Given the description of an element on the screen output the (x, y) to click on. 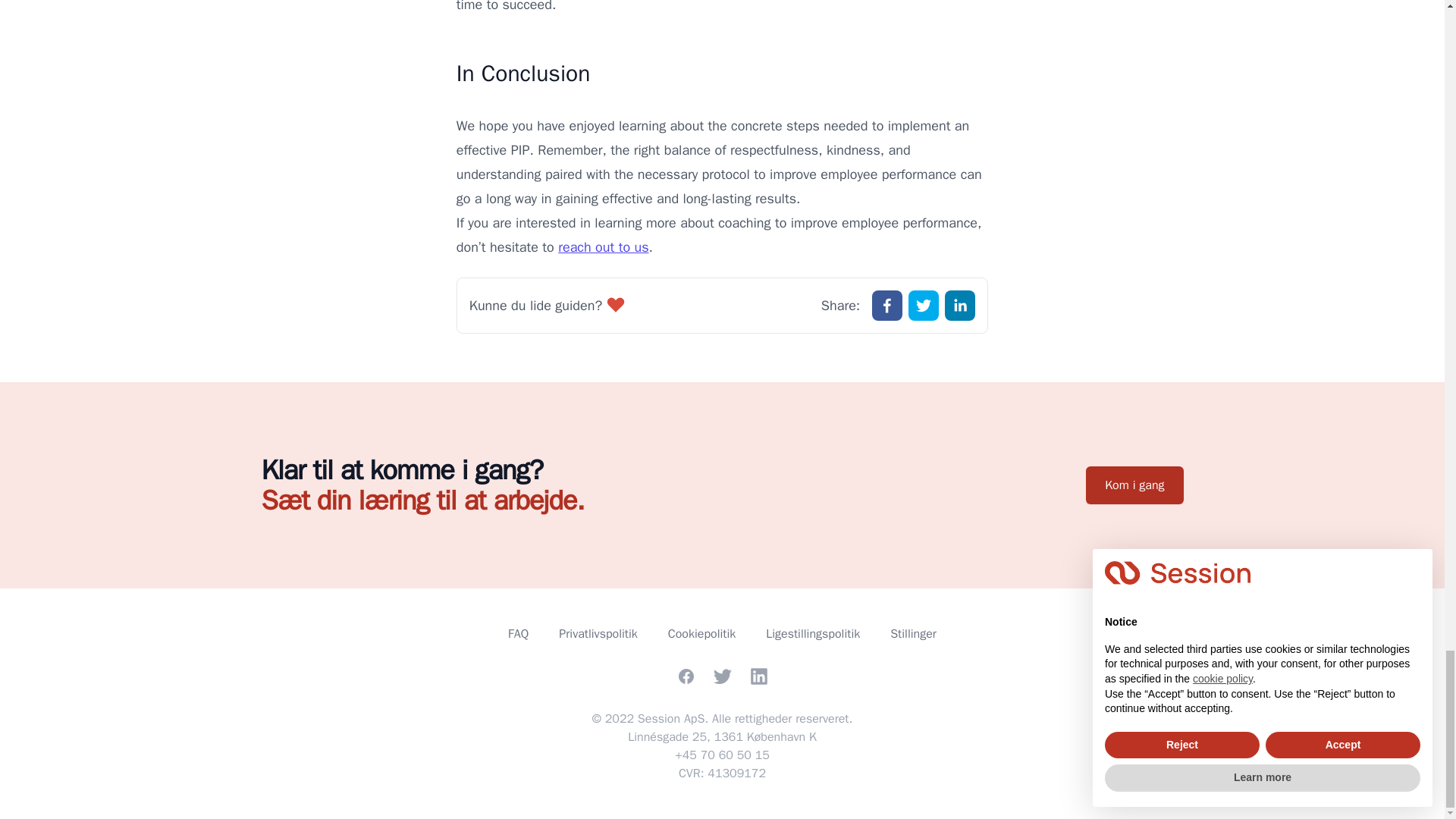
Ligestillingspolitik (812, 633)
reach out to us (602, 247)
Stillinger (912, 633)
Cookiepolitik (701, 633)
FAQ (518, 633)
Twitter (721, 676)
Kom i gang (1134, 485)
LinkedIn (758, 676)
Privatlivspolitik (598, 633)
Facebook (685, 676)
